Given the description of an element on the screen output the (x, y) to click on. 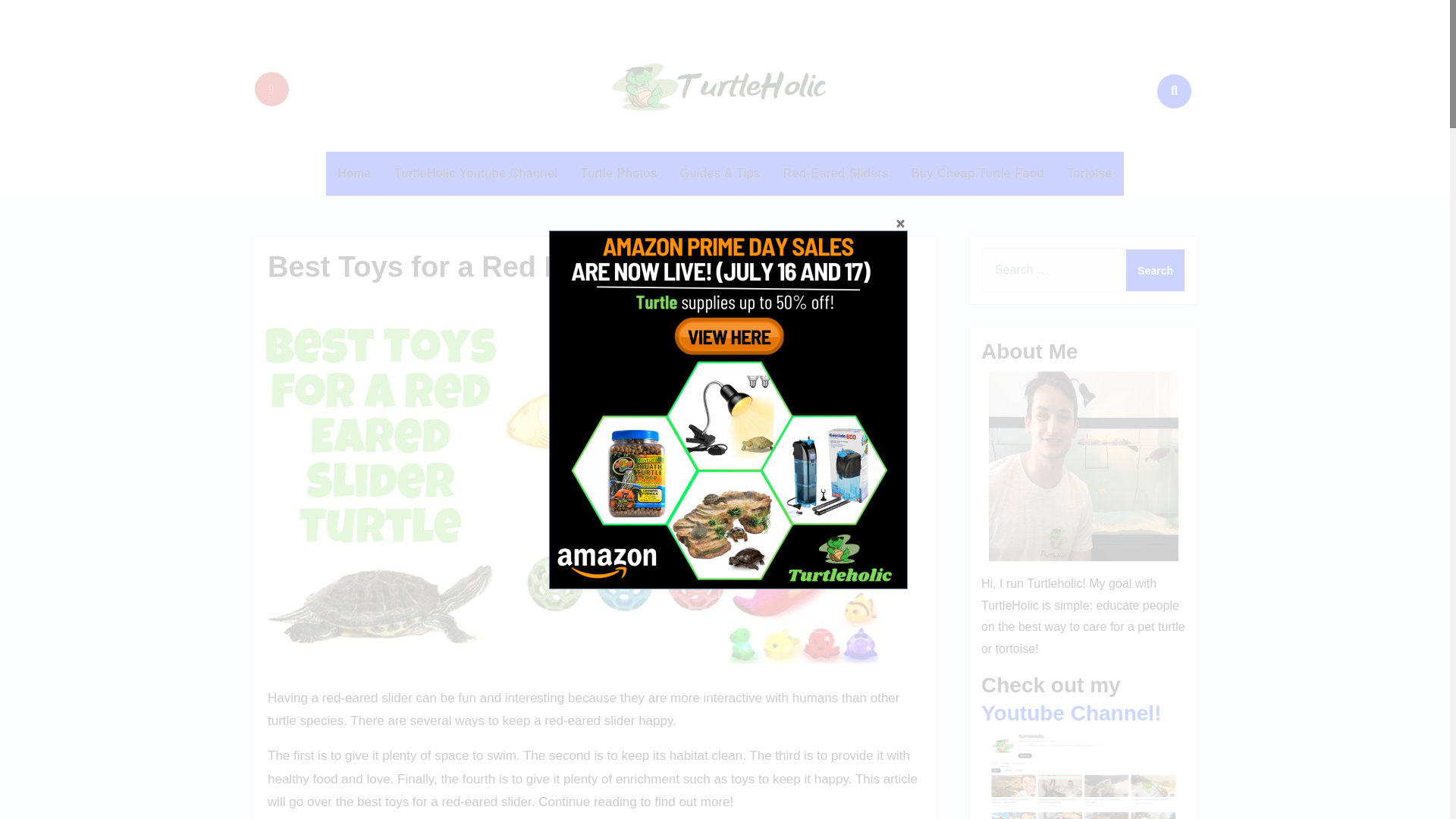
Best Toys for a Red Eared Slider Turtle (532, 266)
Home (354, 173)
Search (1155, 269)
TurtleHolic Youtube Channel (475, 173)
Buy Cheap Turtle Food (977, 173)
Youtube Channel! (1070, 712)
Red-Eared Sliders (835, 173)
Buy Cheap Turtle Food (977, 173)
Permalink to: Best Toys for a Red Eared Slider Turtle (532, 266)
Home (354, 173)
TurtleHolic Youtube Channel (475, 173)
Turtle Photos (618, 173)
Tortoise (1089, 173)
Red-Eared Sliders (835, 173)
Close (899, 222)
